Given the description of an element on the screen output the (x, y) to click on. 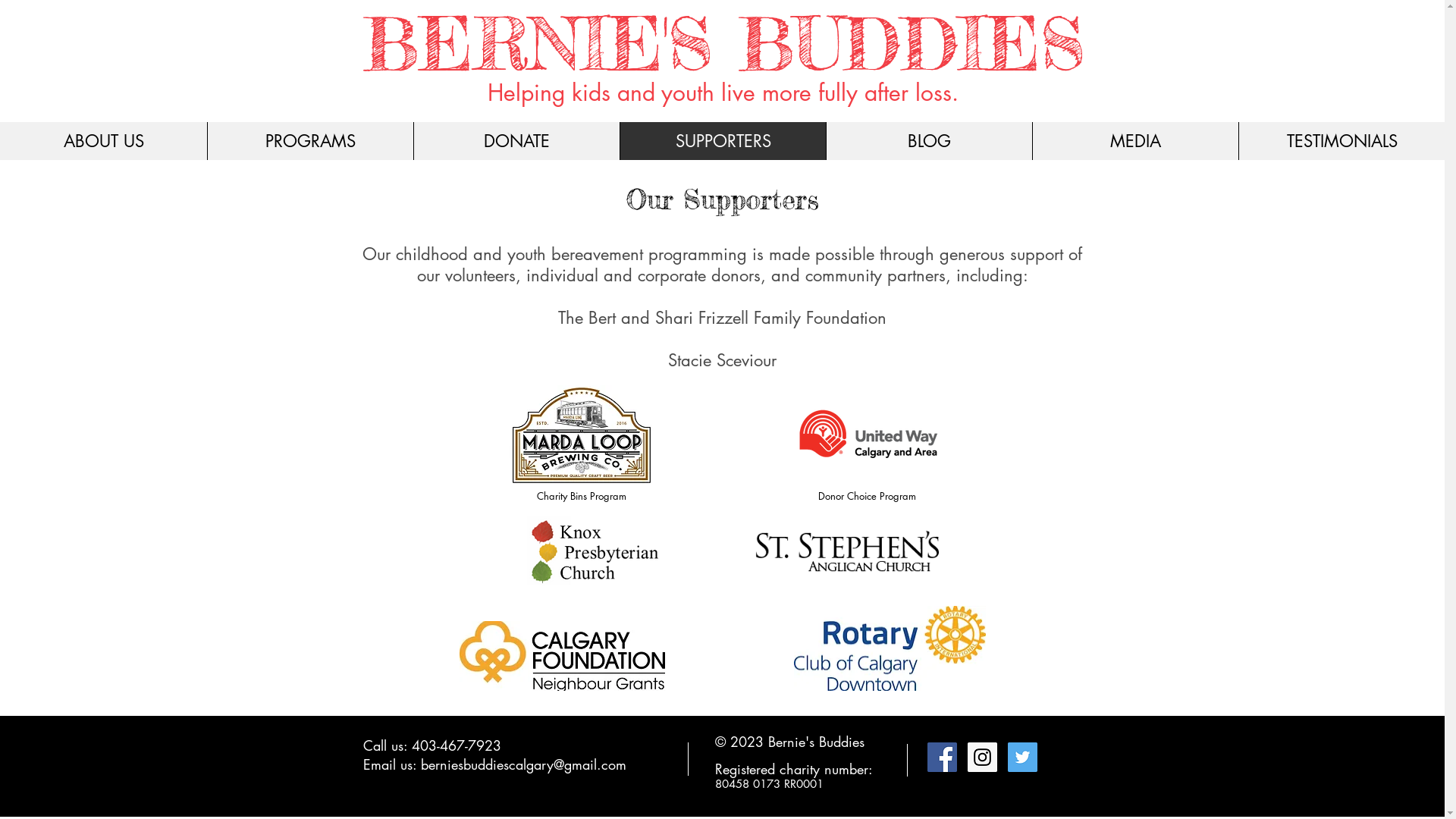
TESTIMONIALS Element type: text (1341, 141)
SUPPORTERS Element type: text (722, 141)
BLOG Element type: text (928, 141)
ABOUT US Element type: text (103, 141)
MEDIA Element type: text (1135, 141)
BERNIE'S BUDDIES Element type: text (723, 43)
PROGRAMS Element type: text (310, 141)
DONATE Element type: text (516, 141)
berniesbuddiescalgary@gmail.com Element type: text (522, 764)
